Given the description of an element on the screen output the (x, y) to click on. 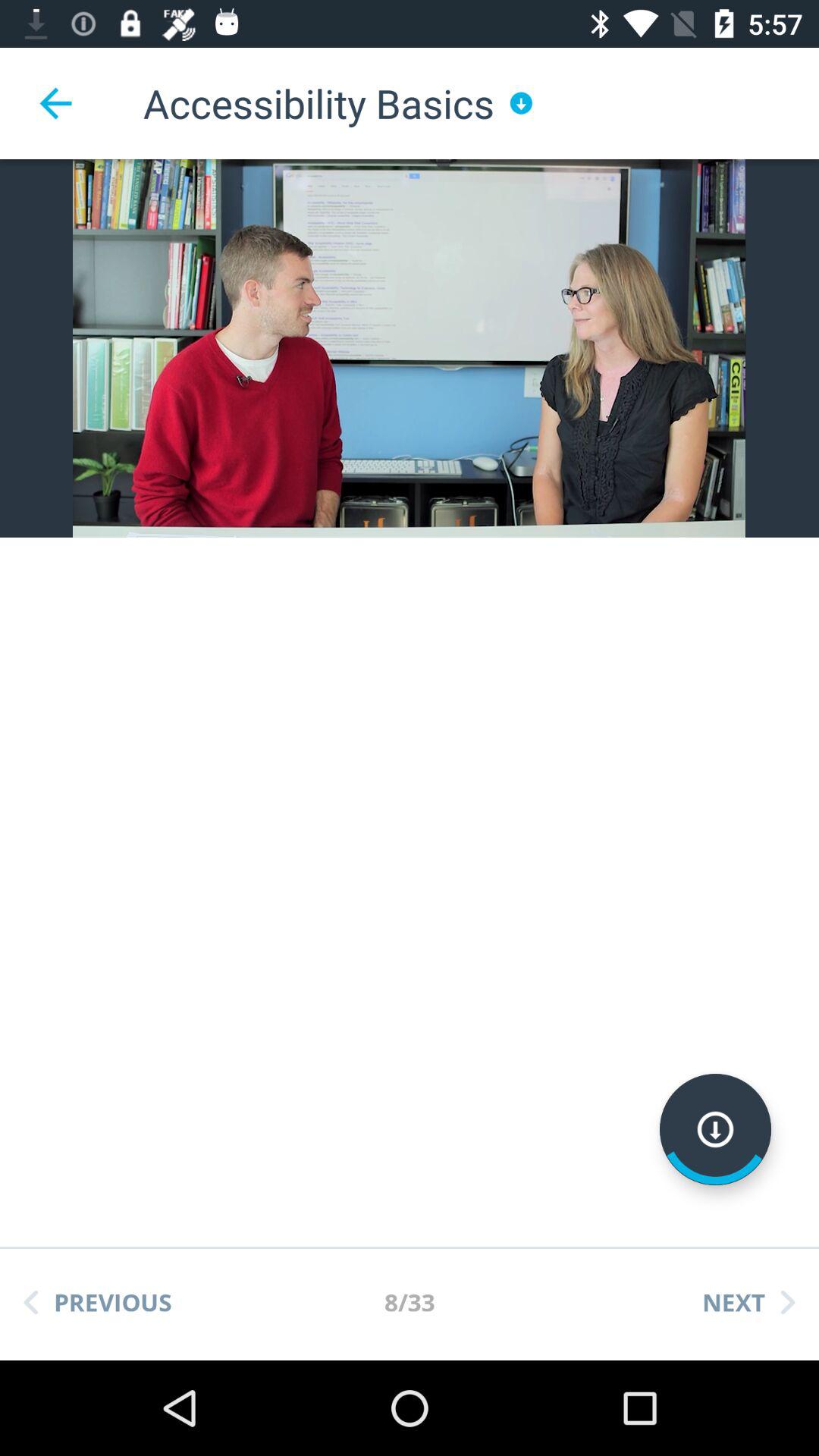
go down (715, 1129)
